Given the description of an element on the screen output the (x, y) to click on. 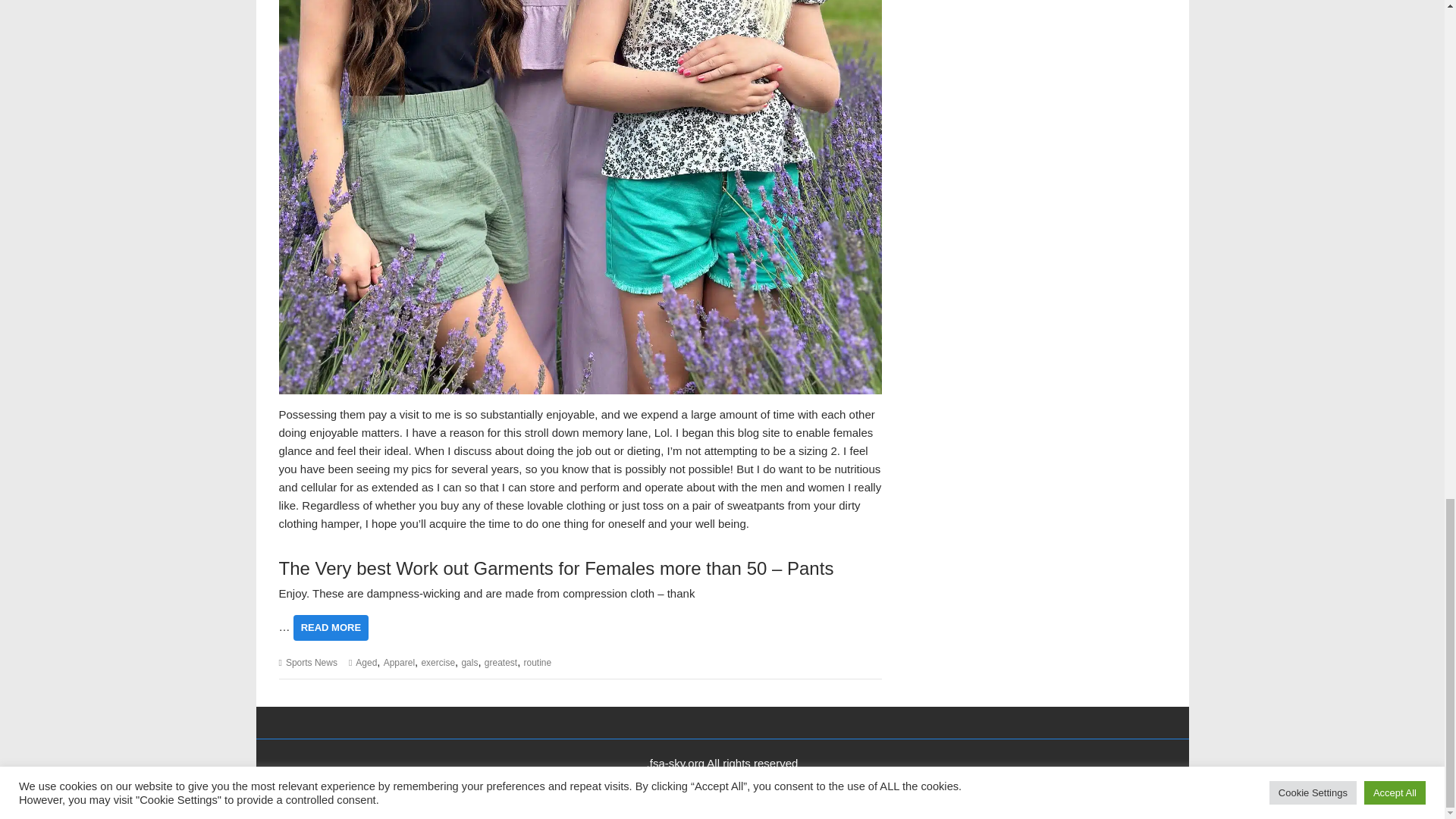
READ MORE (331, 627)
